Given the description of an element on the screen output the (x, y) to click on. 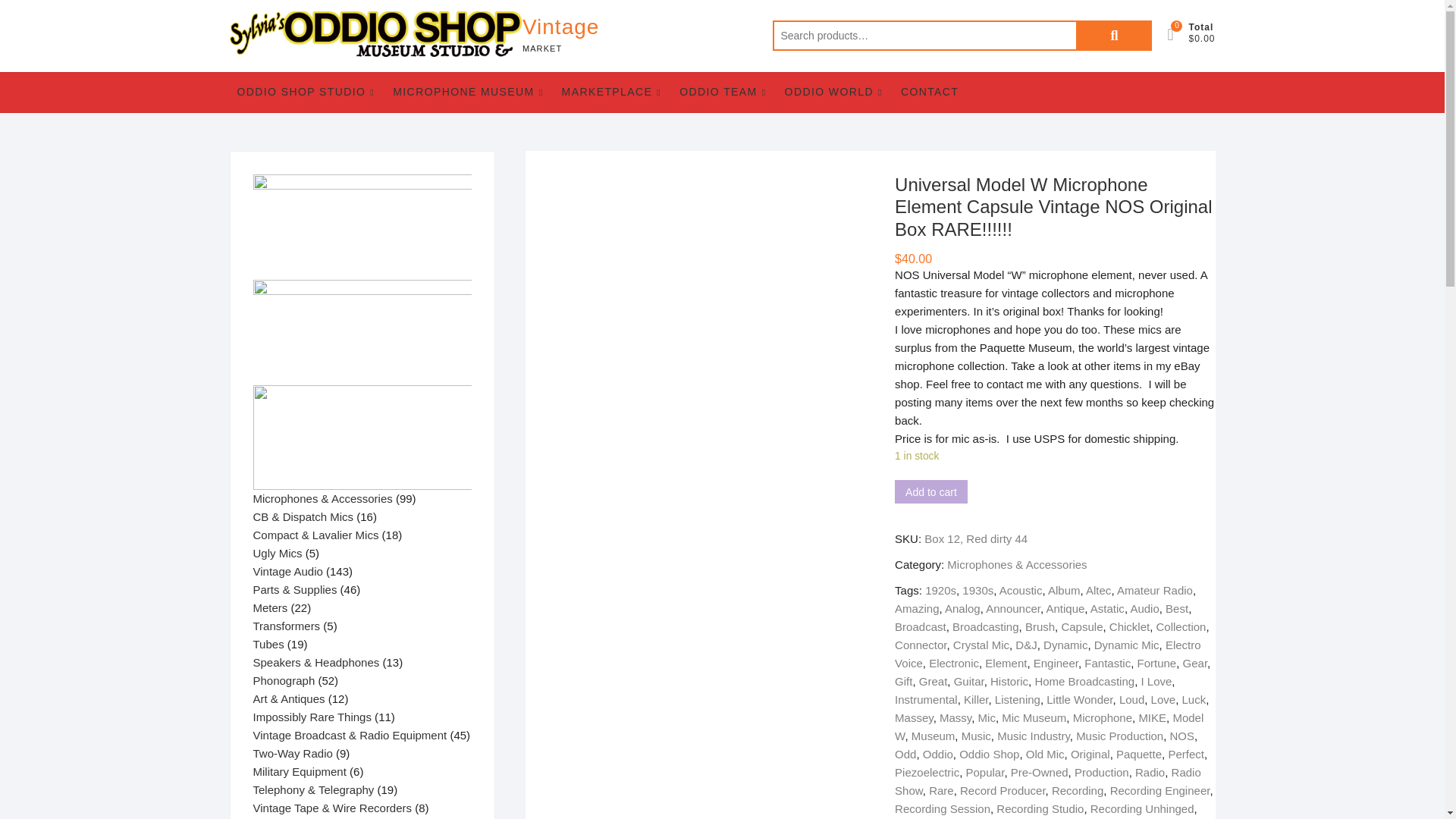
ODDIO SHOP STUDIO (304, 91)
MICROPHONE MUSEUM (467, 91)
Search (1113, 35)
Vintage (560, 26)
0 (1177, 34)
Vintage (560, 26)
MARKETPLACE (611, 91)
